Given the description of an element on the screen output the (x, y) to click on. 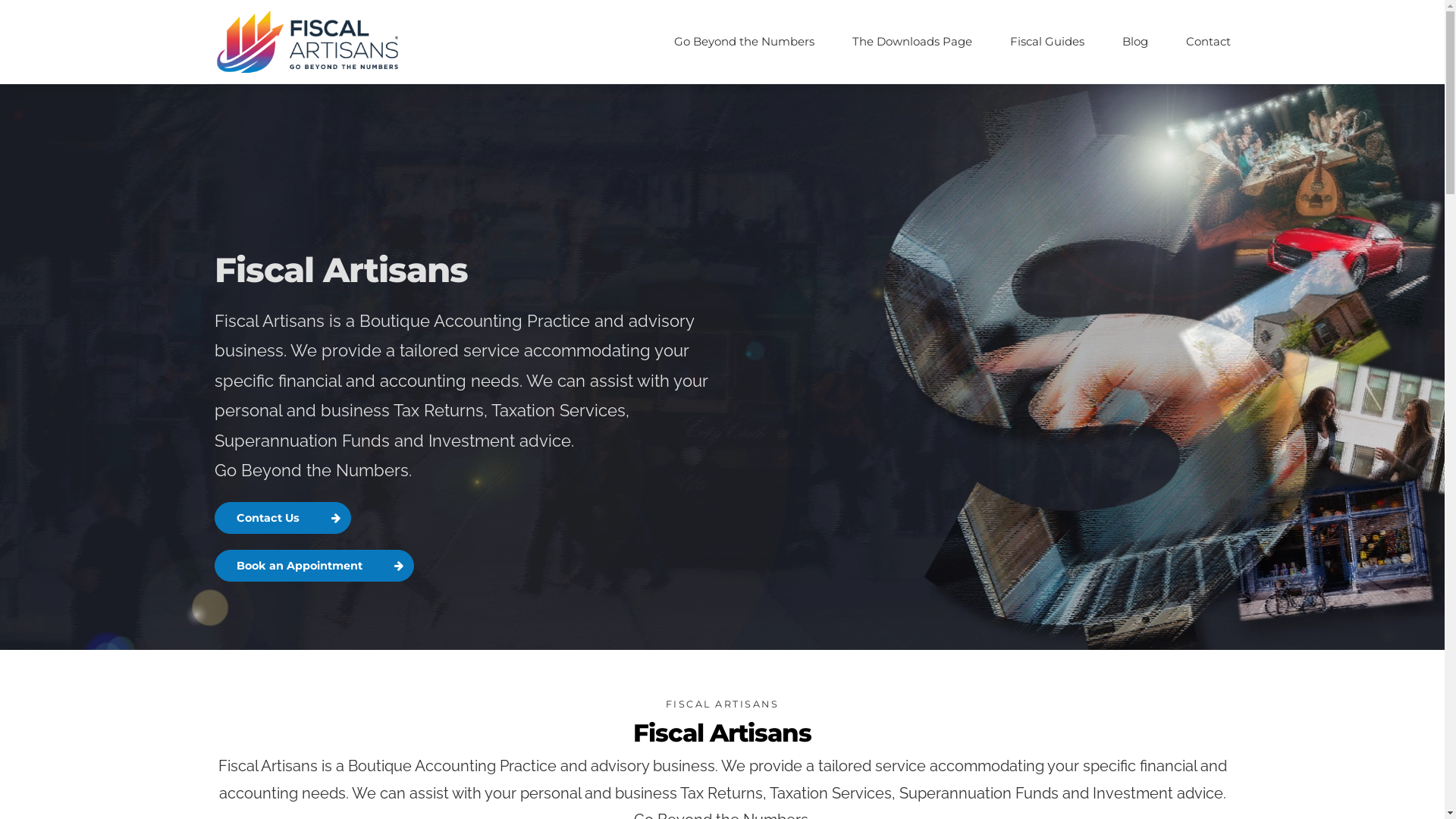
Blog Element type: text (1135, 41)
Contact Us Element type: text (282, 517)
Fiscal Guides Element type: text (1047, 41)
Book an Appointment Element type: text (313, 565)
Go Beyond the Numbers Element type: text (743, 41)
The Downloads Page Element type: text (912, 41)
Contact Element type: text (1208, 41)
